Given the description of an element on the screen output the (x, y) to click on. 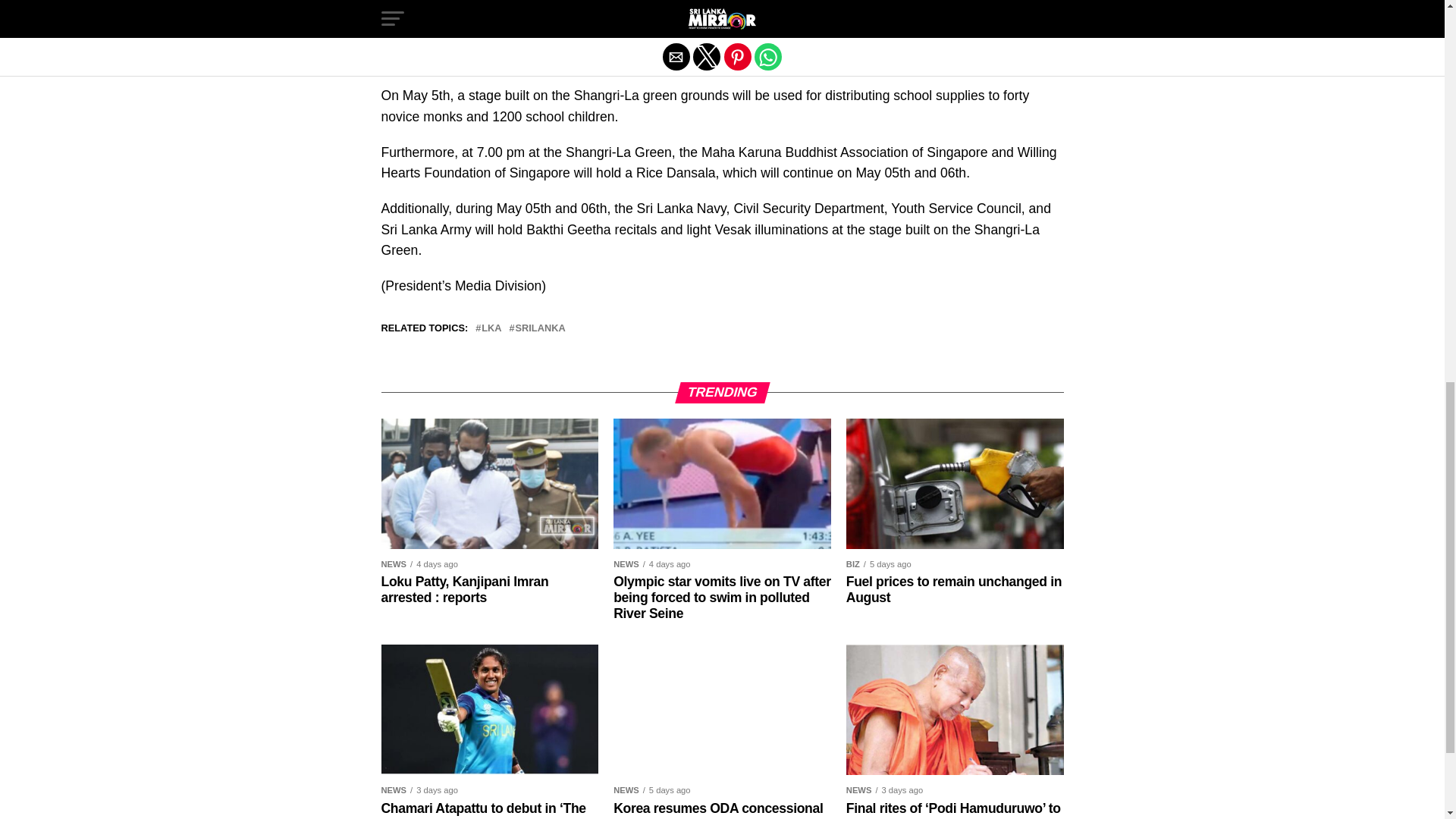
SRILANKA (540, 327)
LKA (490, 327)
